Given the description of an element on the screen output the (x, y) to click on. 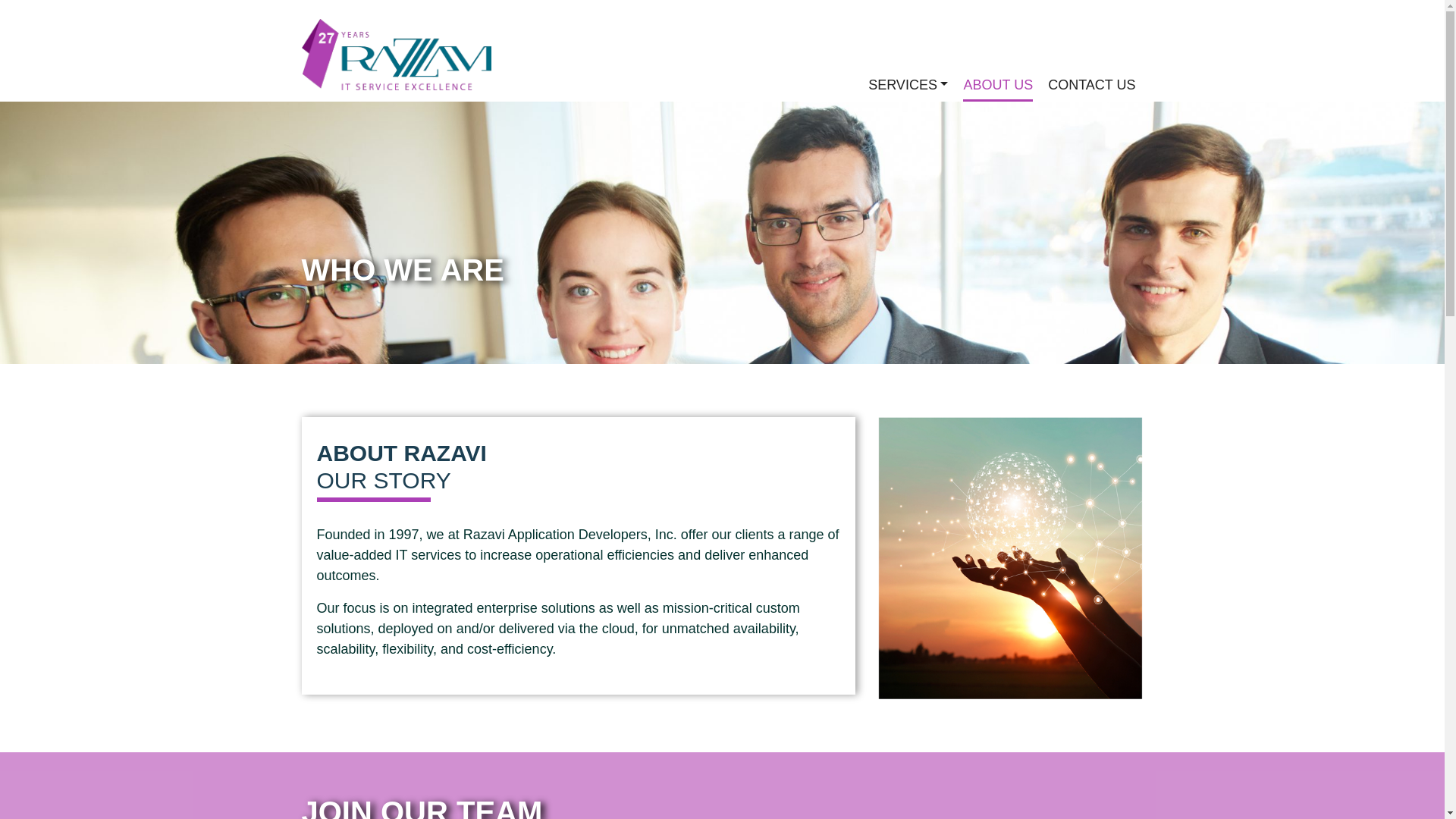
ABOUT US (997, 86)
SERVICES (907, 85)
CONTACT US (1091, 85)
